Given the description of an element on the screen output the (x, y) to click on. 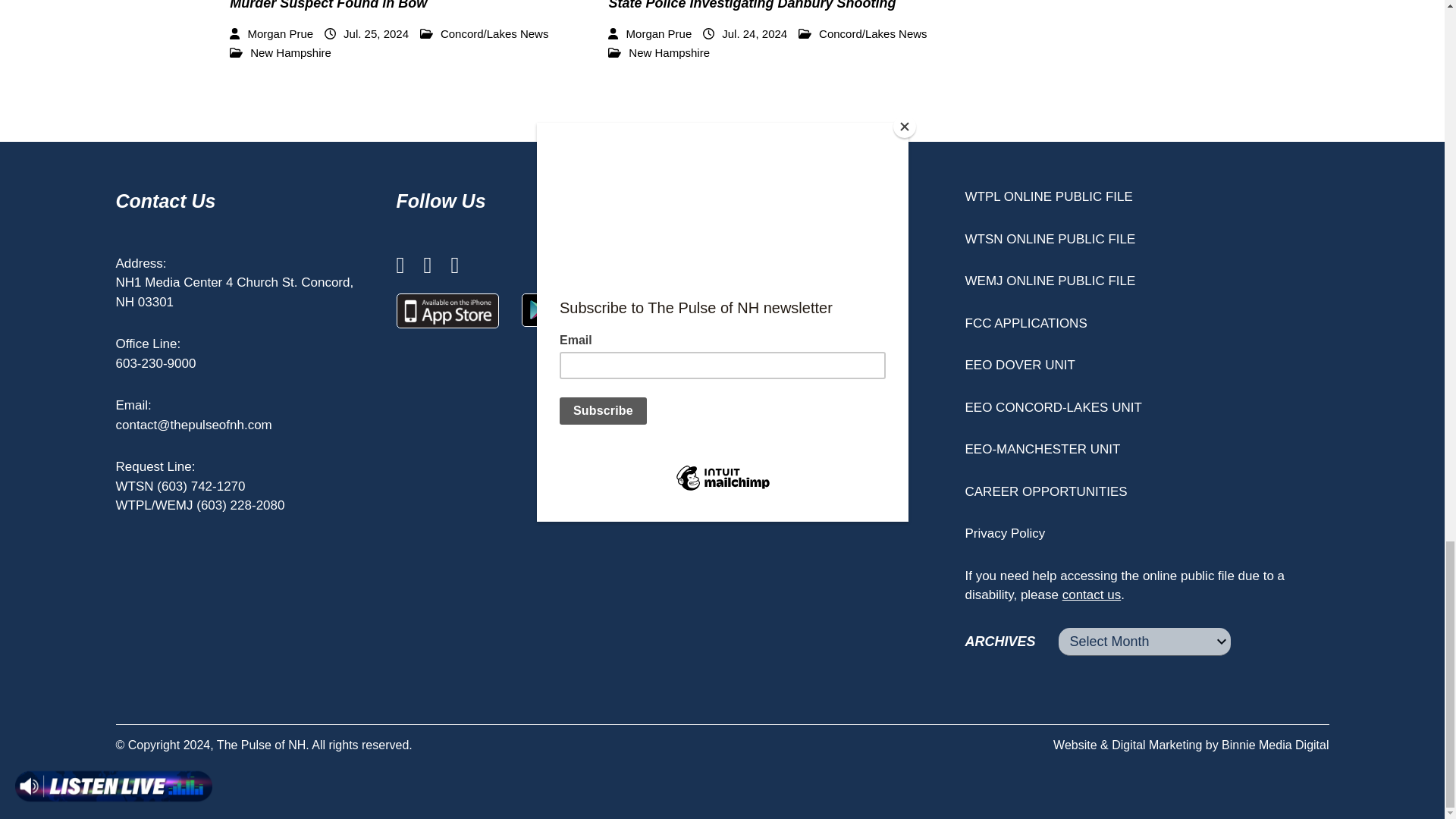
App Store (447, 310)
